Given the description of an element on the screen output the (x, y) to click on. 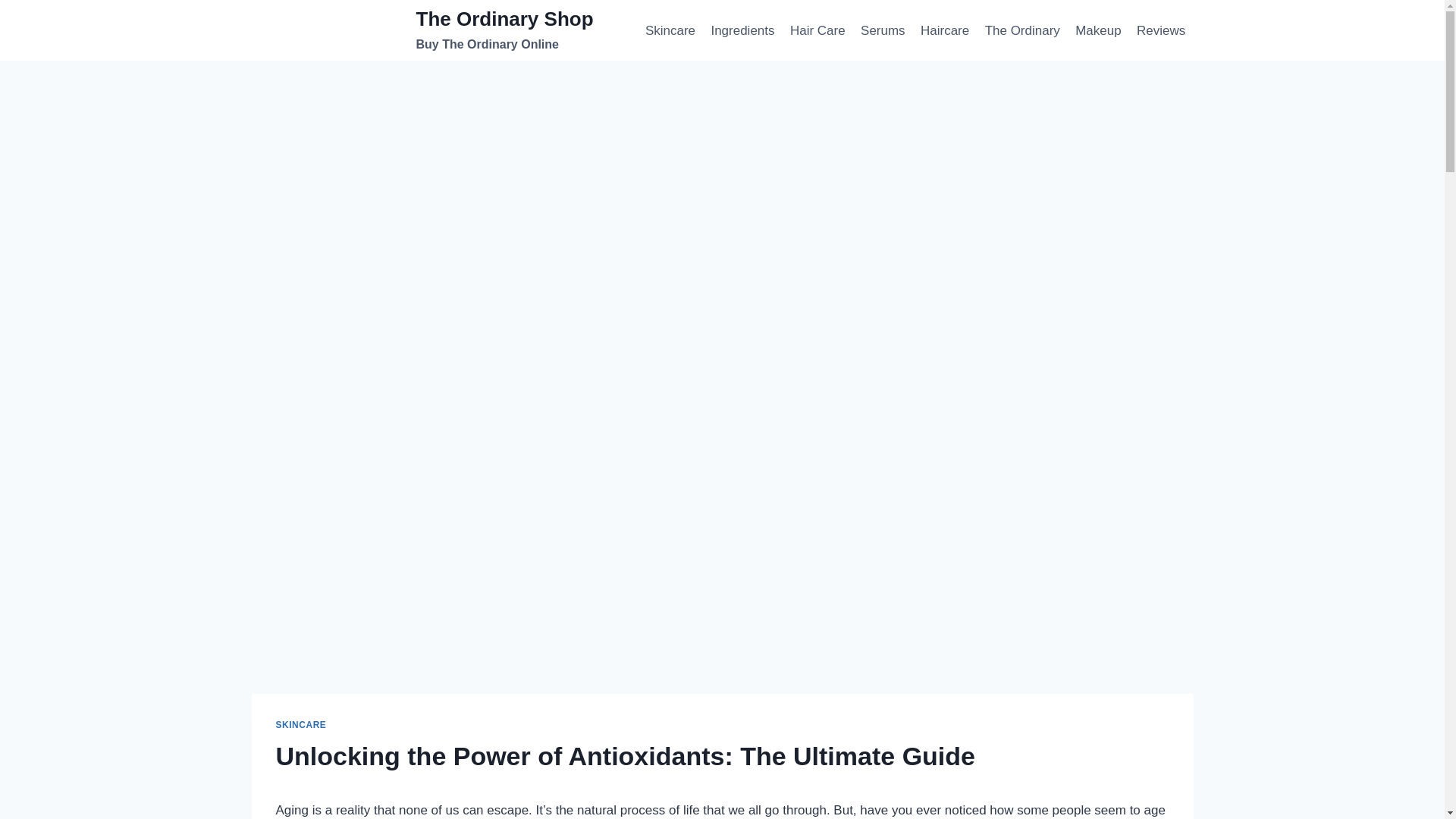
SKINCARE (301, 724)
Serums (422, 30)
The Ordinary (882, 29)
Hair Care (1021, 29)
Ingredients (818, 29)
Haircare (743, 29)
Skincare (944, 29)
Reviews (670, 29)
Makeup (1161, 29)
